Given the description of an element on the screen output the (x, y) to click on. 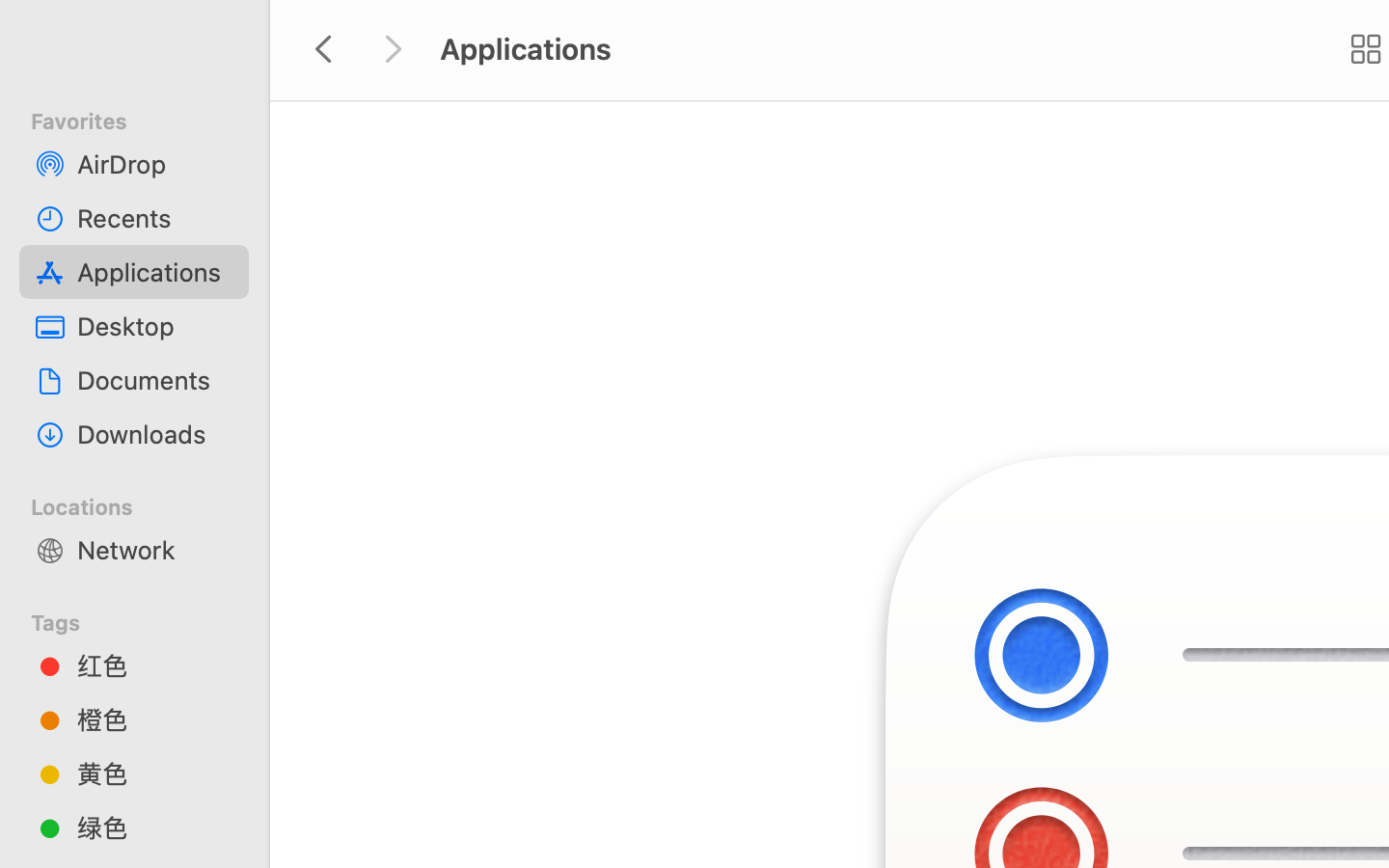
黄色 Element type: AXStaticText (155, 773)
Desktop Element type: AXStaticText (155, 325)
红色 Element type: AXStaticText (155, 665)
Documents Element type: AXStaticText (155, 379)
